Given the description of an element on the screen output the (x, y) to click on. 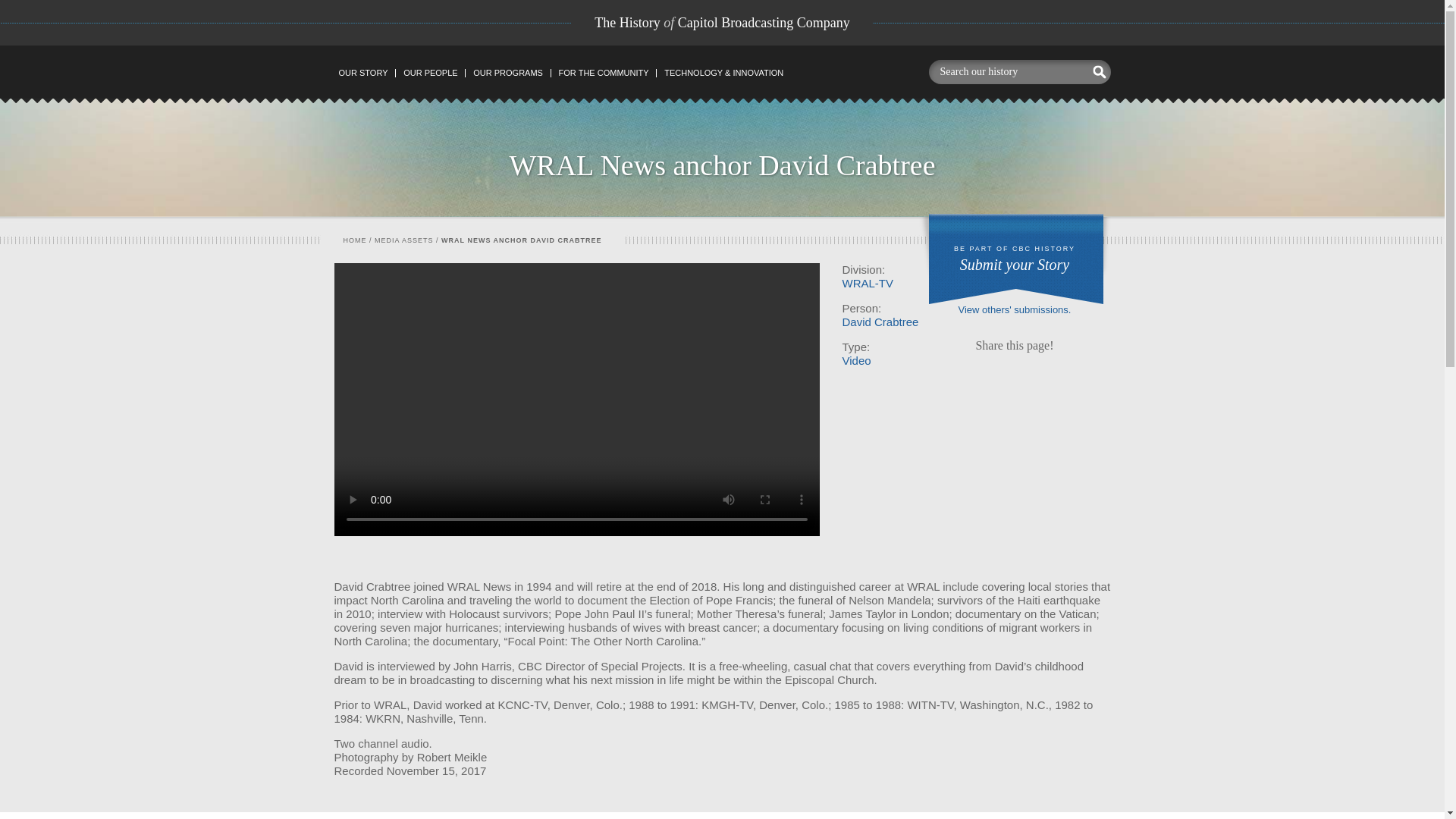
WRAL-TV (867, 282)
Search our history (1006, 71)
Skip to content (365, 74)
FOR THE COMMUNITY (603, 72)
OUR PEOPLE (429, 72)
MEDIA ASSETS (403, 240)
HOME (354, 240)
OUR PROGRAMS (507, 72)
OUR STORY (362, 72)
View others' submissions. (1014, 309)
